Given the description of an element on the screen output the (x, y) to click on. 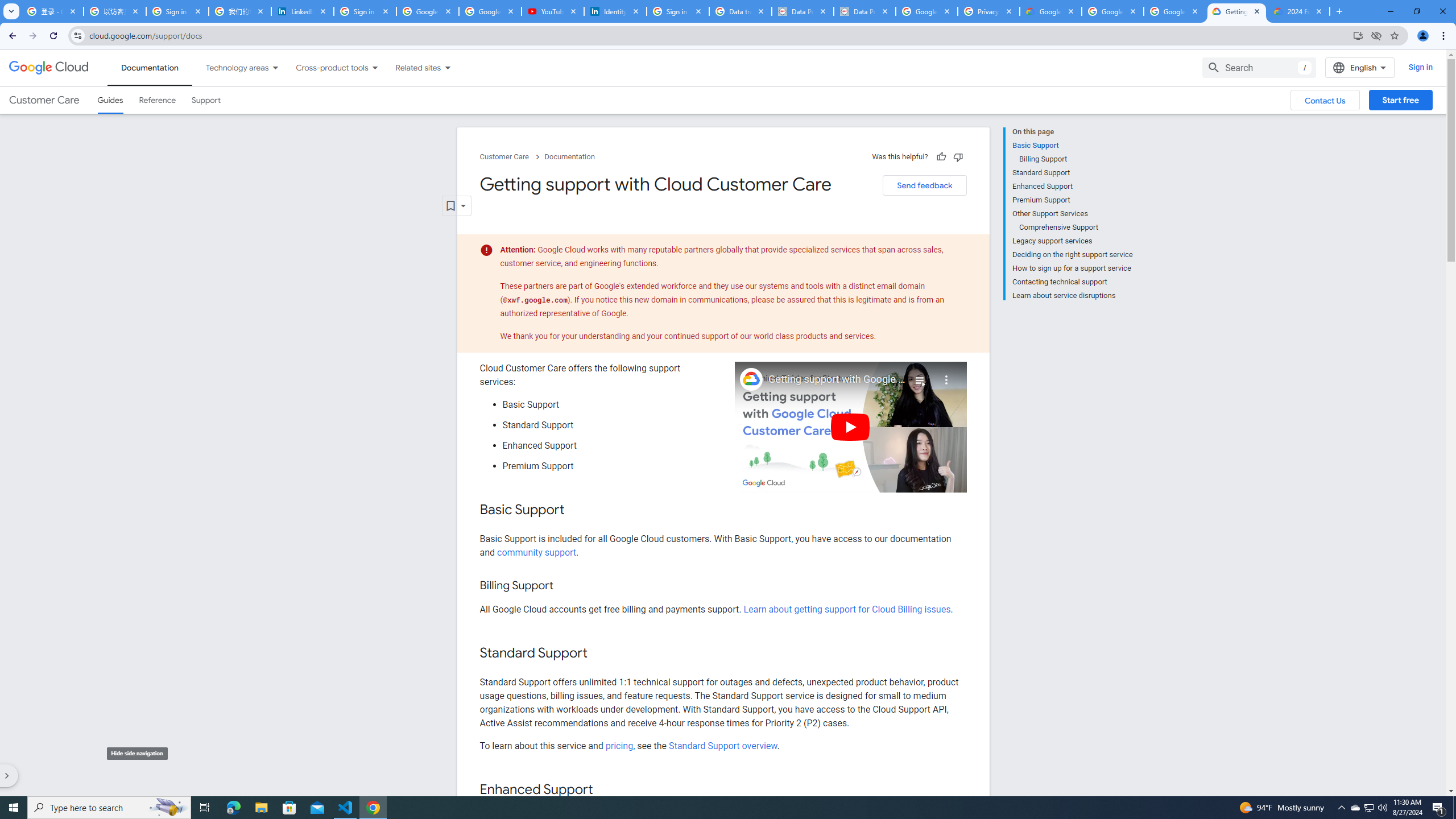
Copy link to this section: Standard Support (599, 653)
Contacting technical support (1071, 282)
Copy link to this section: Billing Support (564, 585)
Premium Support (1071, 200)
Standard Support overview (722, 745)
Play (850, 426)
Google Workspace - Specific Terms (1111, 11)
Documentation, selected (149, 67)
Customer Care (44, 100)
